Given the description of an element on the screen output the (x, y) to click on. 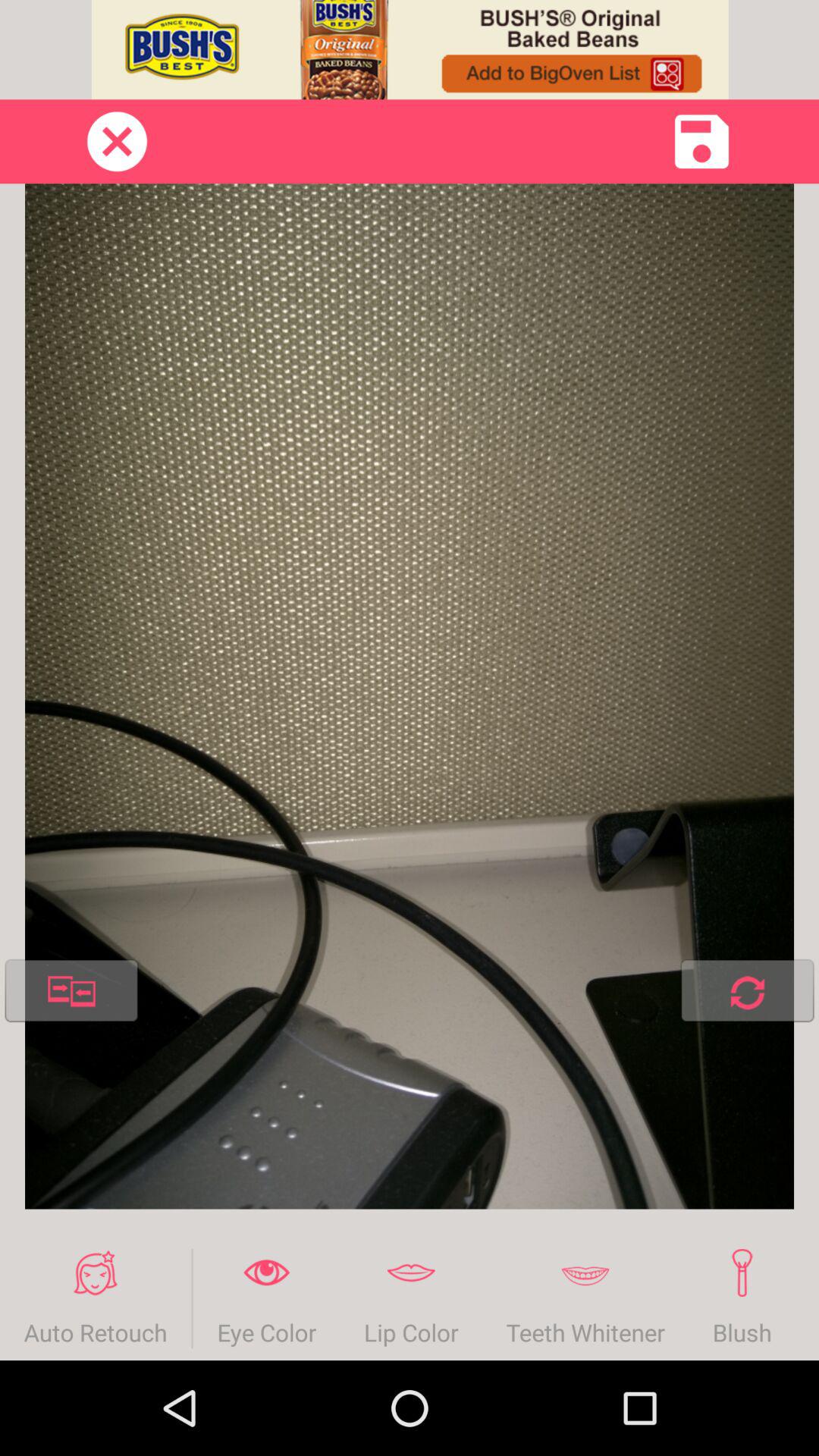
select the item to the right of lip color icon (585, 1298)
